Given the description of an element on the screen output the (x, y) to click on. 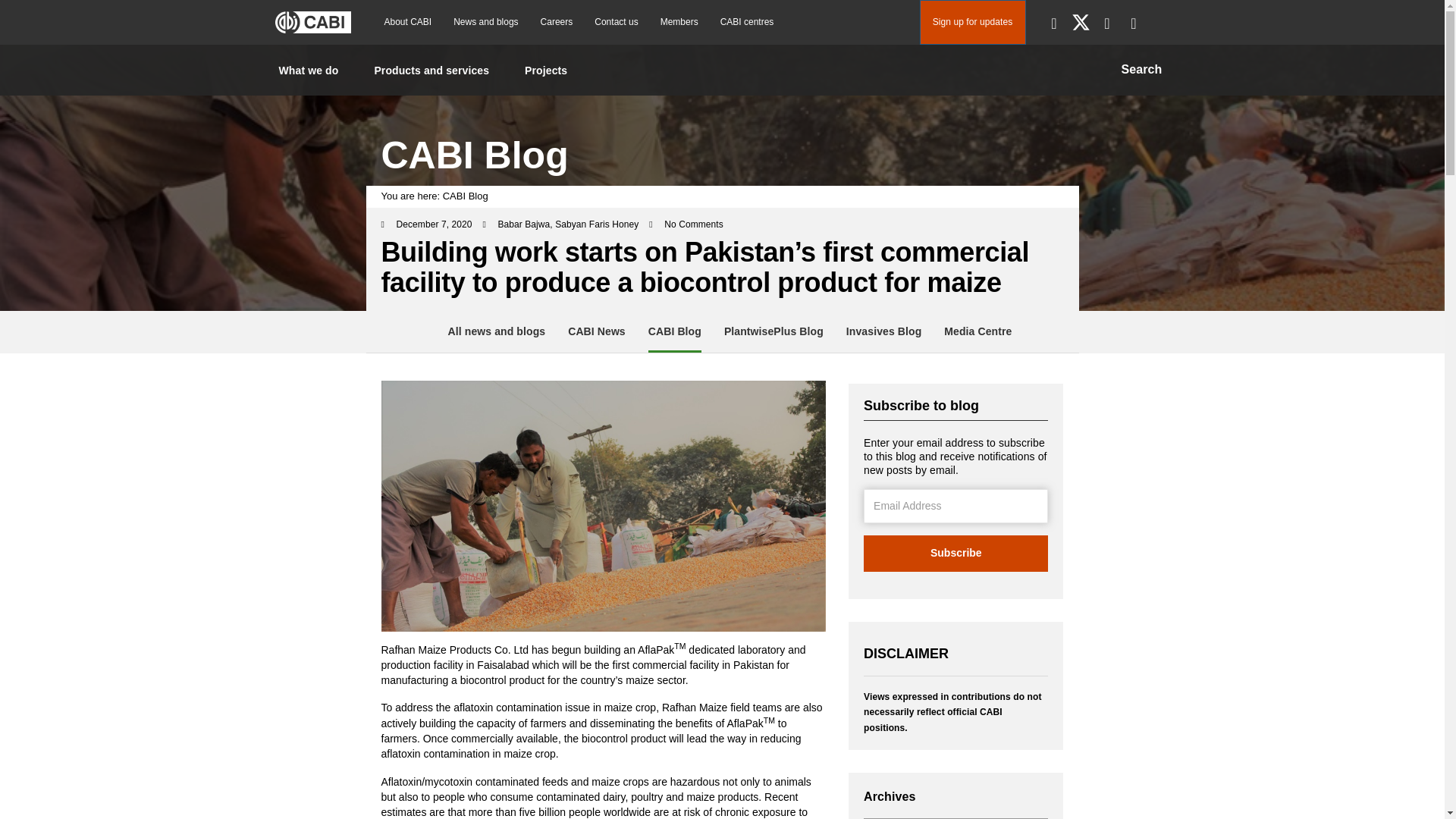
News and blogs (485, 21)
About CABI (407, 21)
CABI centres (747, 21)
Sign up for updates (971, 22)
Careers (556, 21)
Contact us (615, 21)
Members (679, 21)
